Given the description of an element on the screen output the (x, y) to click on. 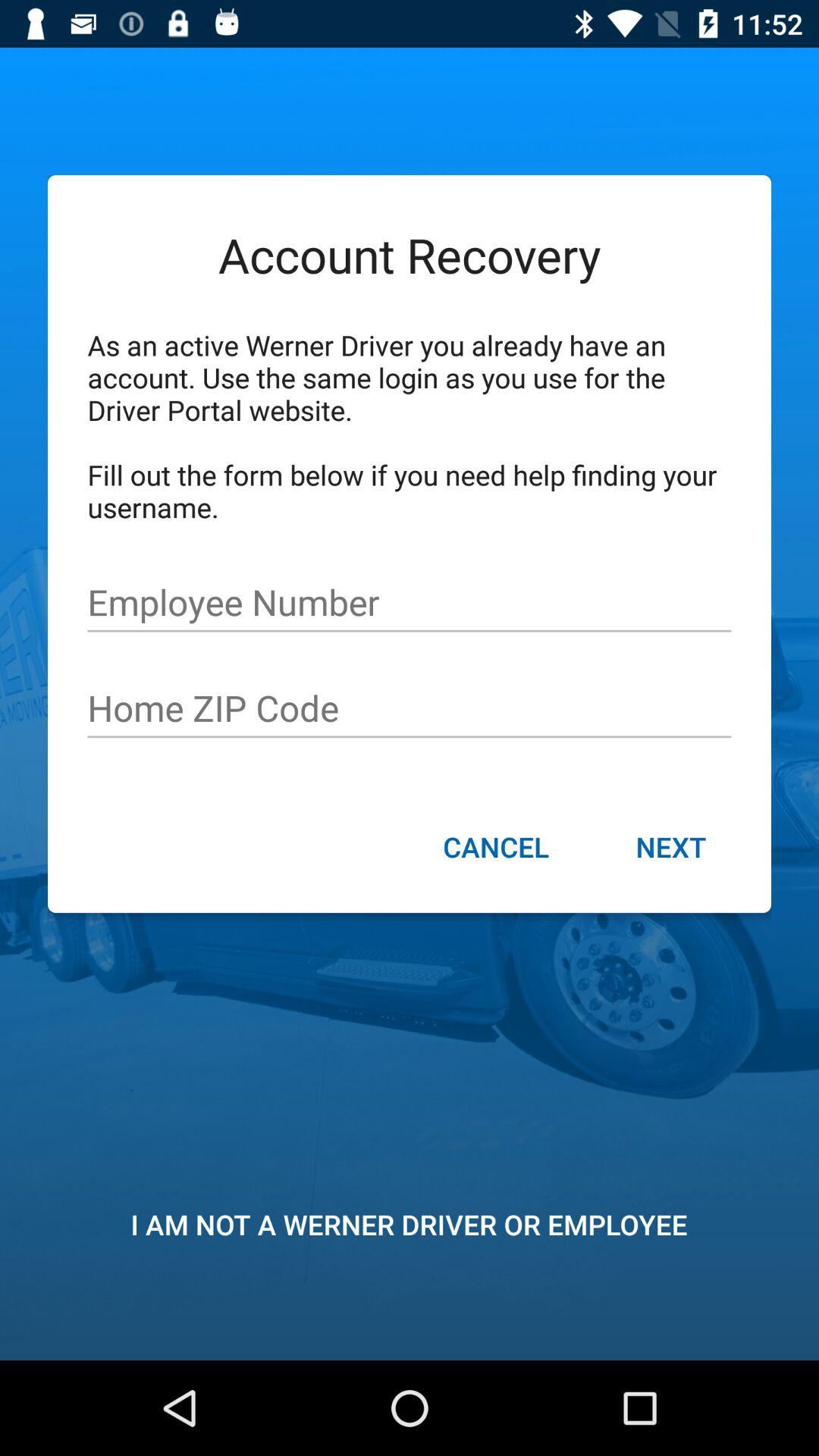
tap item next to cancel (670, 848)
